Given the description of an element on the screen output the (x, y) to click on. 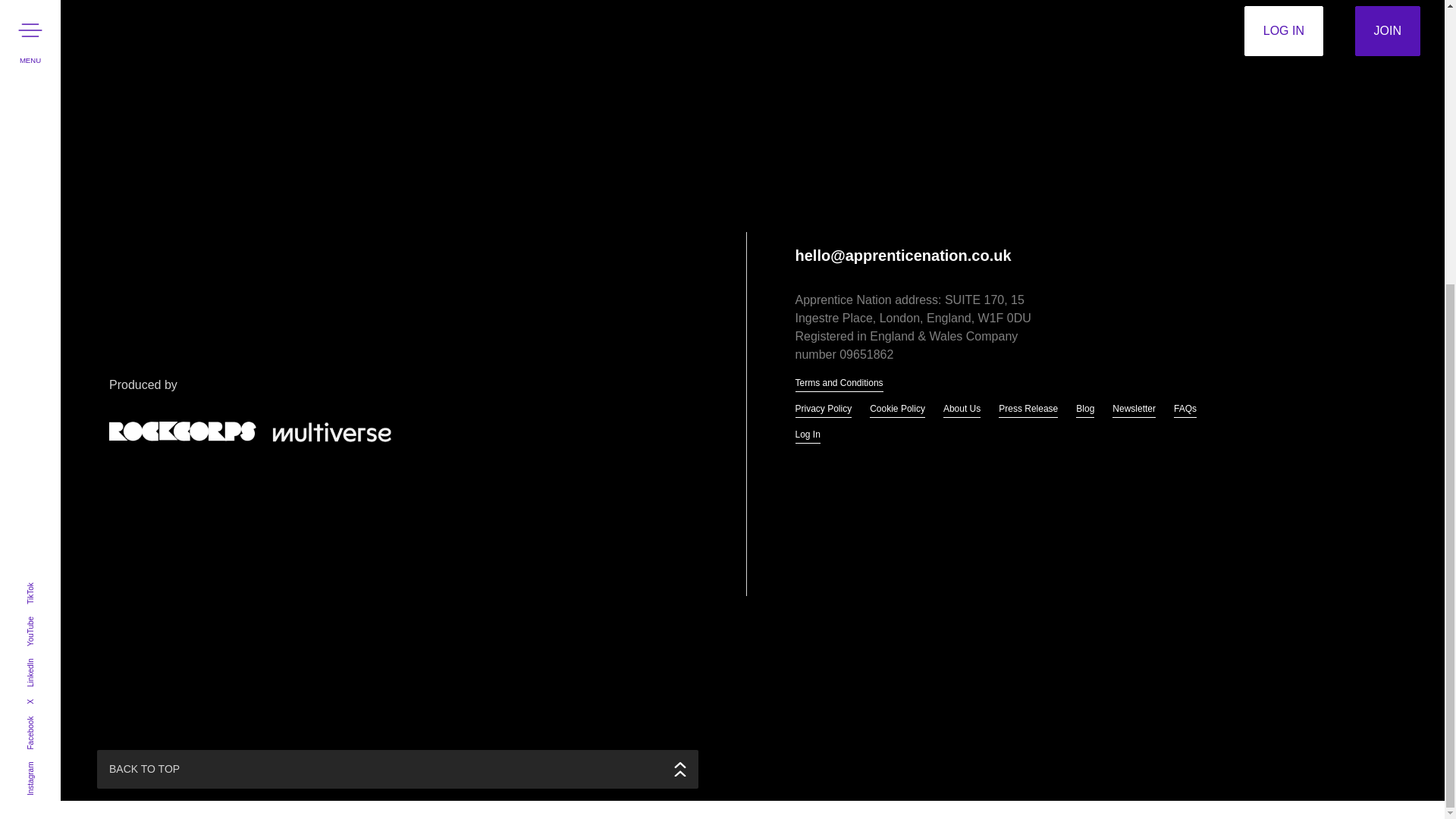
Privacy Policy (822, 410)
Instagram (42, 338)
YouTube (40, 193)
Terms and Conditions (838, 384)
LinkedIn (40, 234)
TikTok (37, 158)
Facebook (42, 293)
Cookie Policy (896, 410)
About Us (961, 410)
JOIN (1388, 30)
LOG IN (1283, 30)
